Given the description of an element on the screen output the (x, y) to click on. 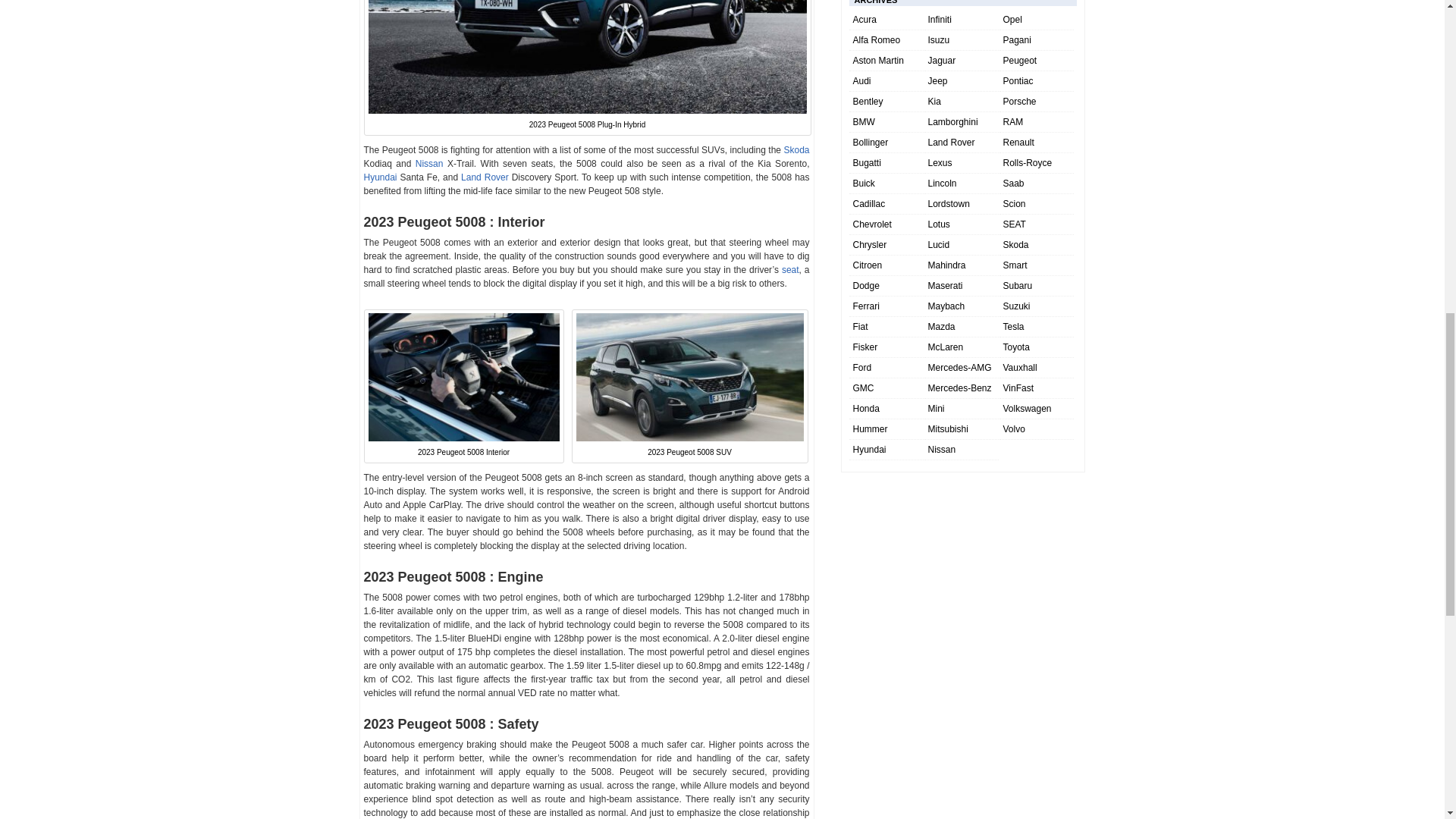
Skoda (796, 149)
Skoda (796, 149)
Nissan (429, 163)
Hyundai (380, 176)
Nissan (429, 163)
seat (790, 269)
Land Rover (484, 176)
Hyundai (380, 176)
Land Rover (484, 176)
seat (790, 269)
